Given the description of an element on the screen output the (x, y) to click on. 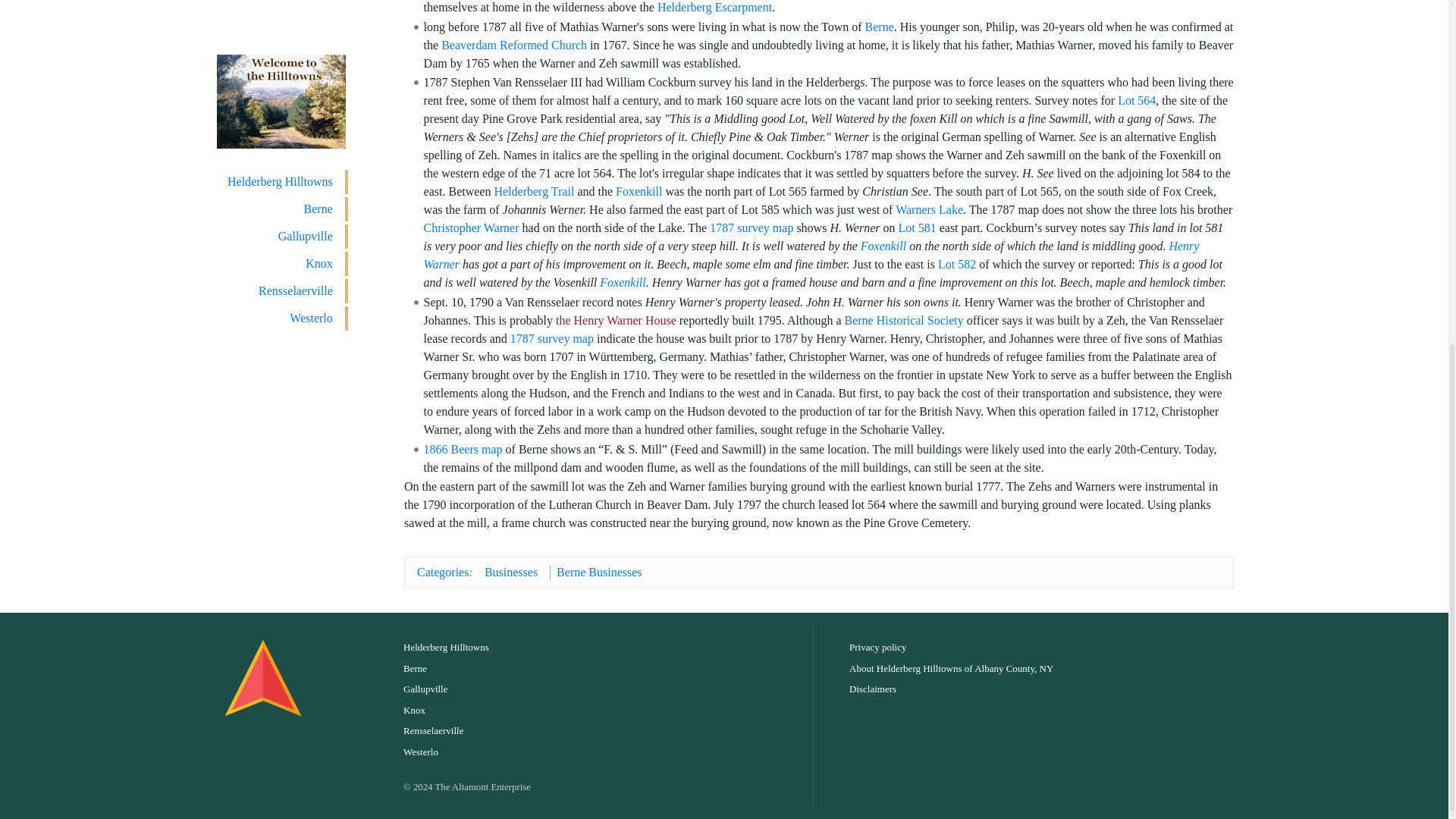
Berne (878, 26)
Foxenkill (638, 191)
Lot 564 (1137, 100)
Beaverdam Reformed Church (513, 44)
Berne (878, 26)
Warners Lake (928, 209)
Helderberg Trail (533, 191)
Helderberg Escarpment (714, 6)
Helderberg Escarpment (714, 6)
